Given the description of an element on the screen output the (x, y) to click on. 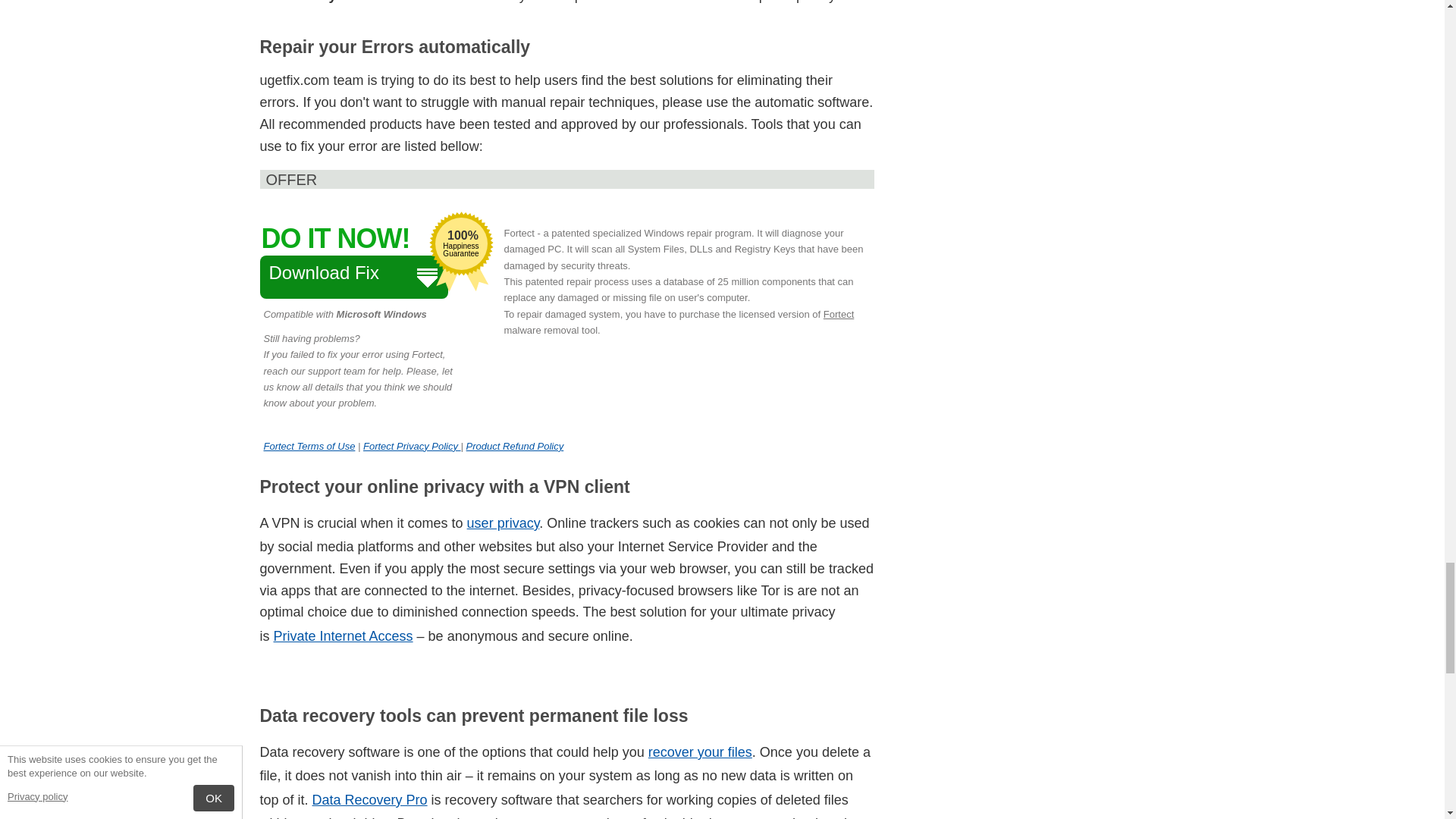
Data Recovery Pro (370, 799)
Private Internet Access (342, 635)
Product Refund Policy (514, 446)
Fortect Privacy Policy (411, 446)
Fortect Terms of Use (352, 277)
recover your files (309, 446)
user privacy (699, 752)
Fortect (503, 522)
